Given the description of an element on the screen output the (x, y) to click on. 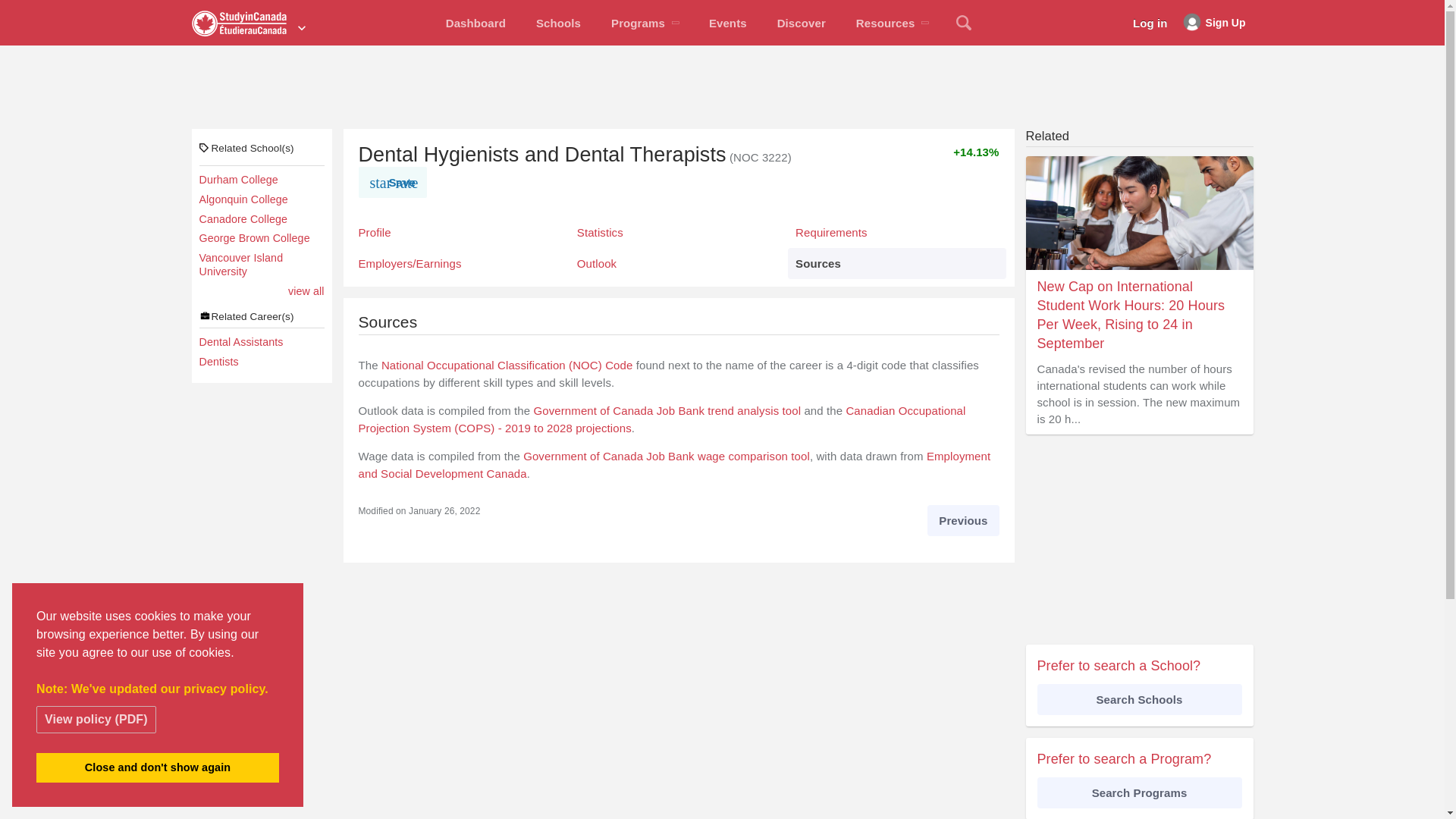
Resources (892, 22)
Events (727, 22)
view all (306, 291)
Vancouver Island University (260, 265)
Dental Assistants (260, 342)
Algonquin College (260, 200)
Discover (801, 22)
Sign Up (1213, 22)
Dashboard (475, 22)
Advertisement (1138, 540)
Save (392, 182)
mySTUFF (475, 22)
Canadore College (260, 219)
Schools (558, 22)
Discover (801, 22)
